Given the description of an element on the screen output the (x, y) to click on. 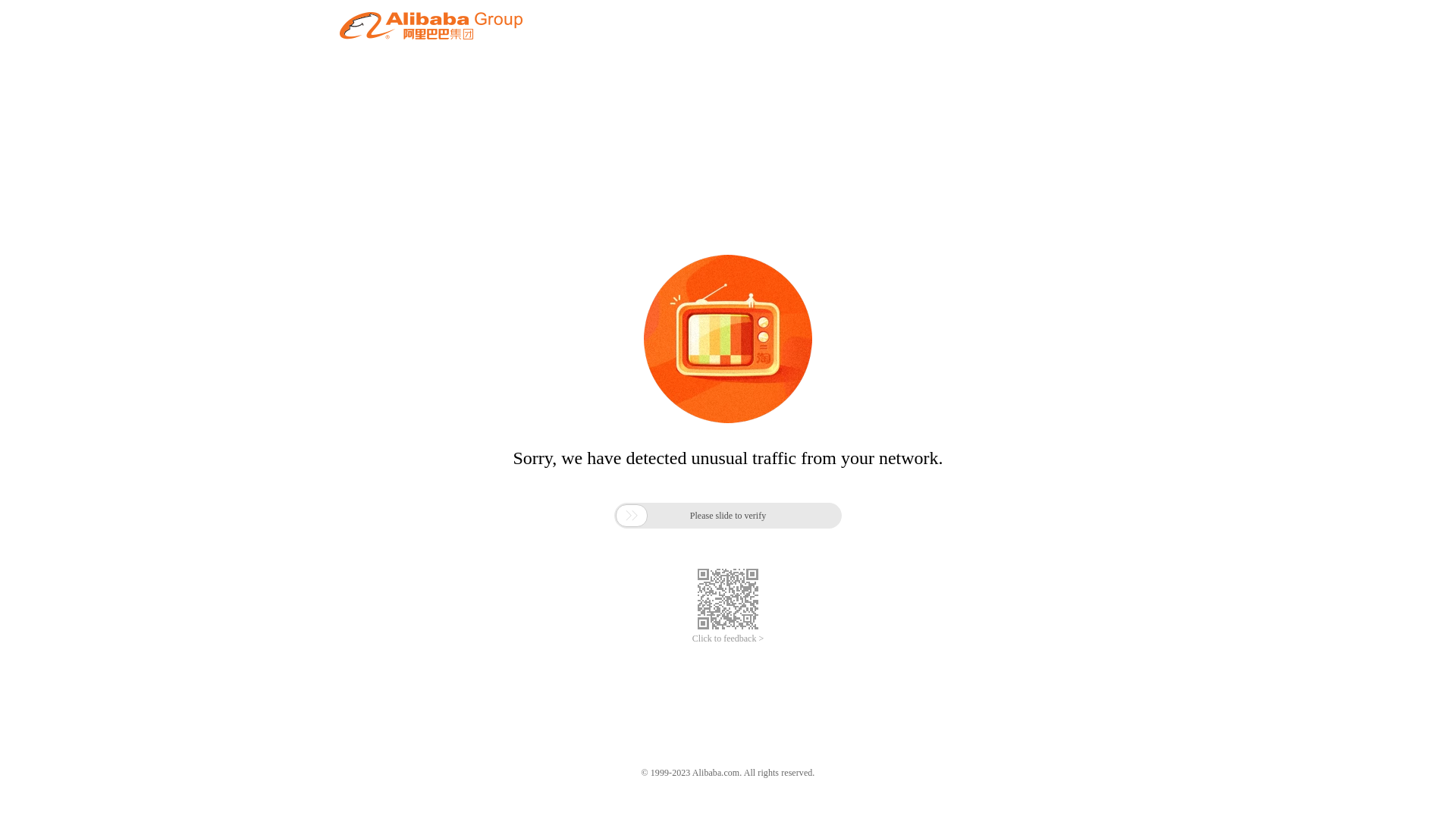
Click to feedback > Element type: text (727, 638)
